Given the description of an element on the screen output the (x, y) to click on. 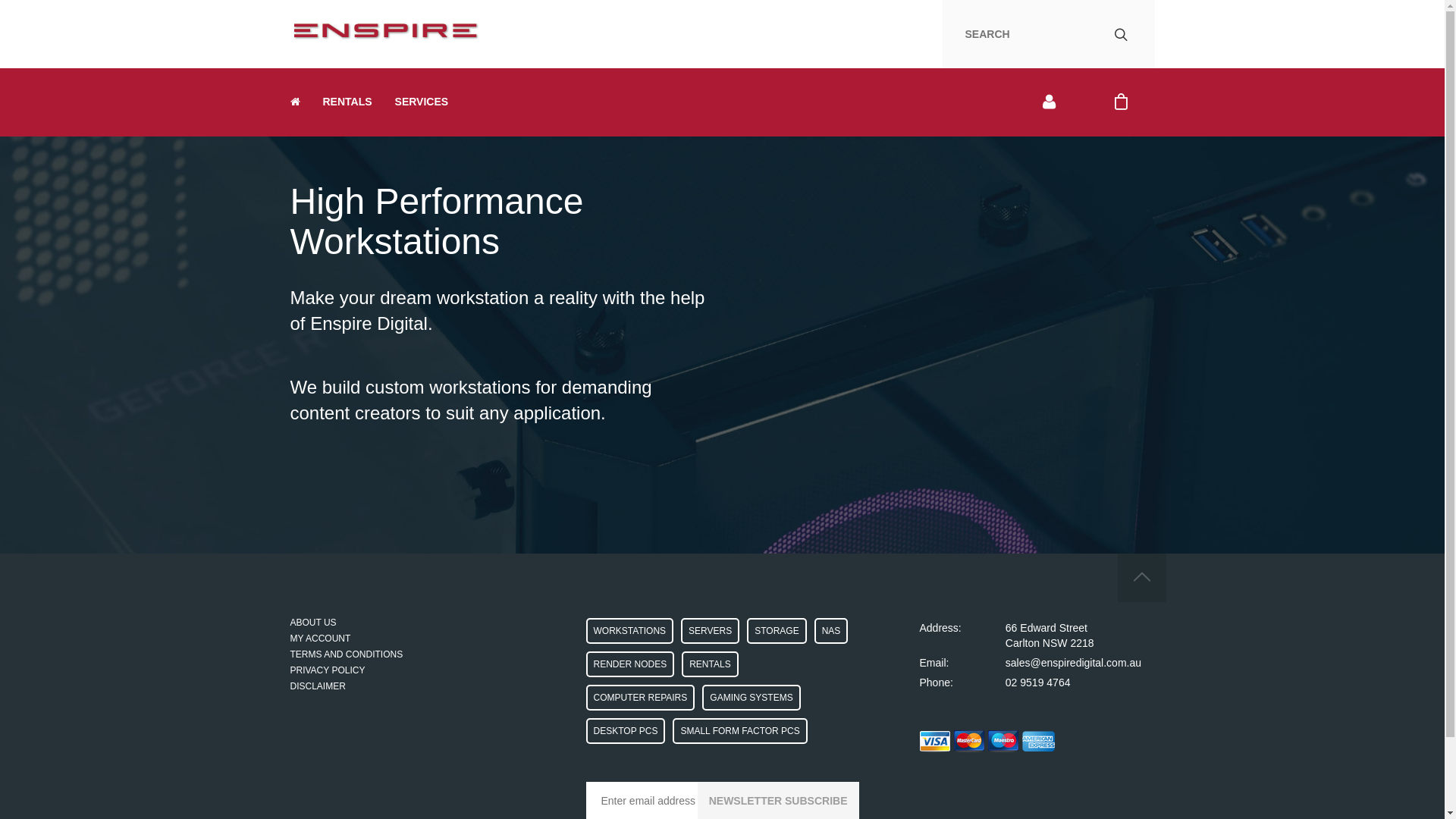
MY ACCOUNT Element type: text (319, 638)
STORAGE Element type: text (776, 630)
sales@enspiredigital.com.au Element type: text (1073, 662)
02 9519 4764 Element type: text (1037, 682)
RENDER NODES Element type: text (629, 664)
ABOUT US Element type: text (312, 622)
SERVERS Element type: text (709, 630)
DESKTOP PCS Element type: text (625, 730)
DISCLAIMER Element type: text (317, 685)
RENTALS Element type: text (709, 664)
SMALL FORM FACTOR PCS Element type: text (739, 730)
TERMS AND CONDITIONS Element type: text (345, 654)
NAS Element type: text (831, 630)
WORKSTATIONS Element type: text (629, 630)
PRIVACY POLICY Element type: text (326, 670)
GAMING SYSTEMS Element type: text (751, 697)
COMPUTER REPAIRS Element type: text (639, 697)
SERVICES Element type: text (421, 101)
RENTALS Element type: text (347, 101)
